Given the description of an element on the screen output the (x, y) to click on. 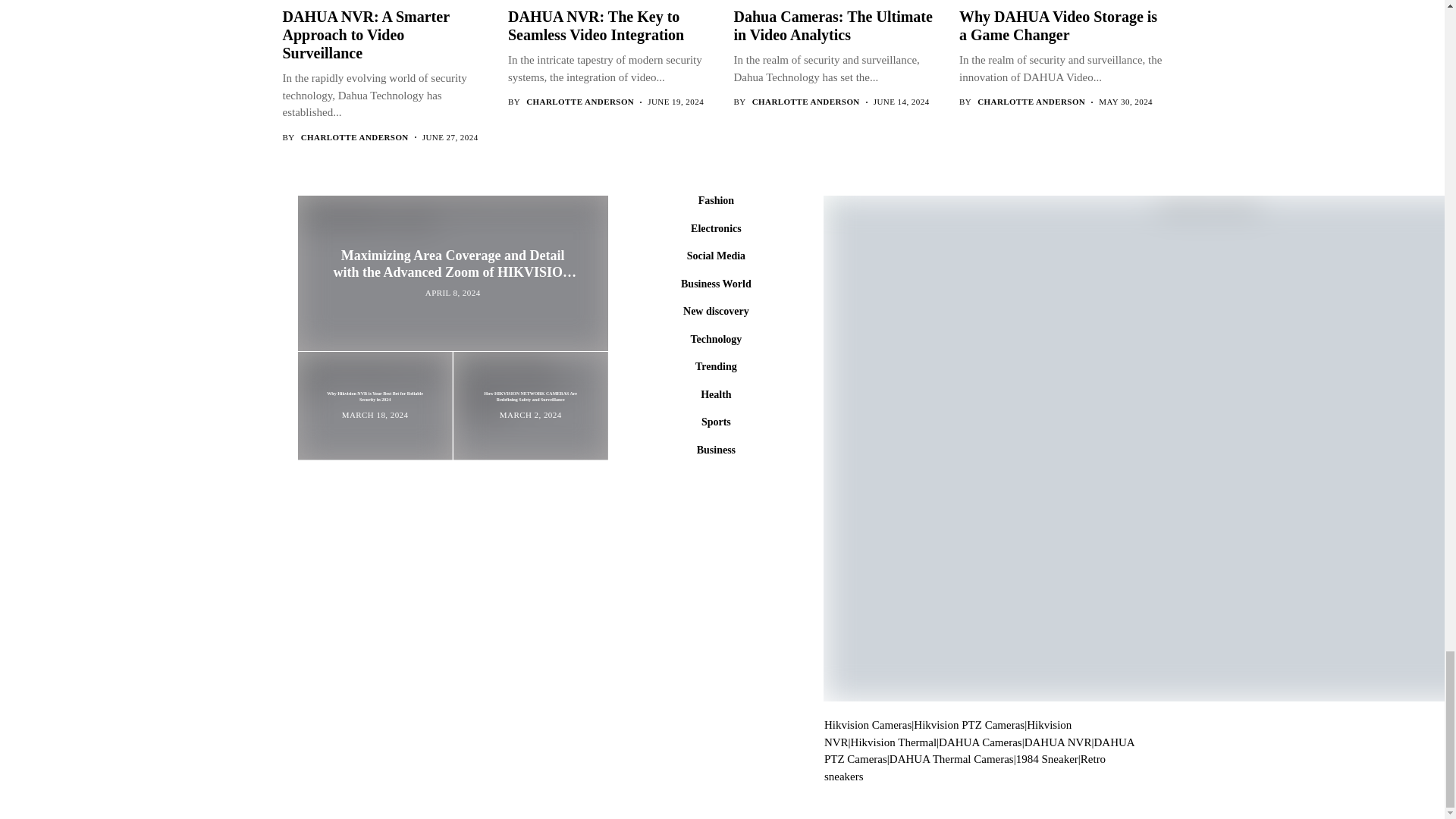
Posts by Charlotte Anderson (1030, 102)
Posts by Charlotte Anderson (806, 102)
Posts by Charlotte Anderson (579, 102)
Posts by Charlotte Anderson (355, 137)
